Given the description of an element on the screen output the (x, y) to click on. 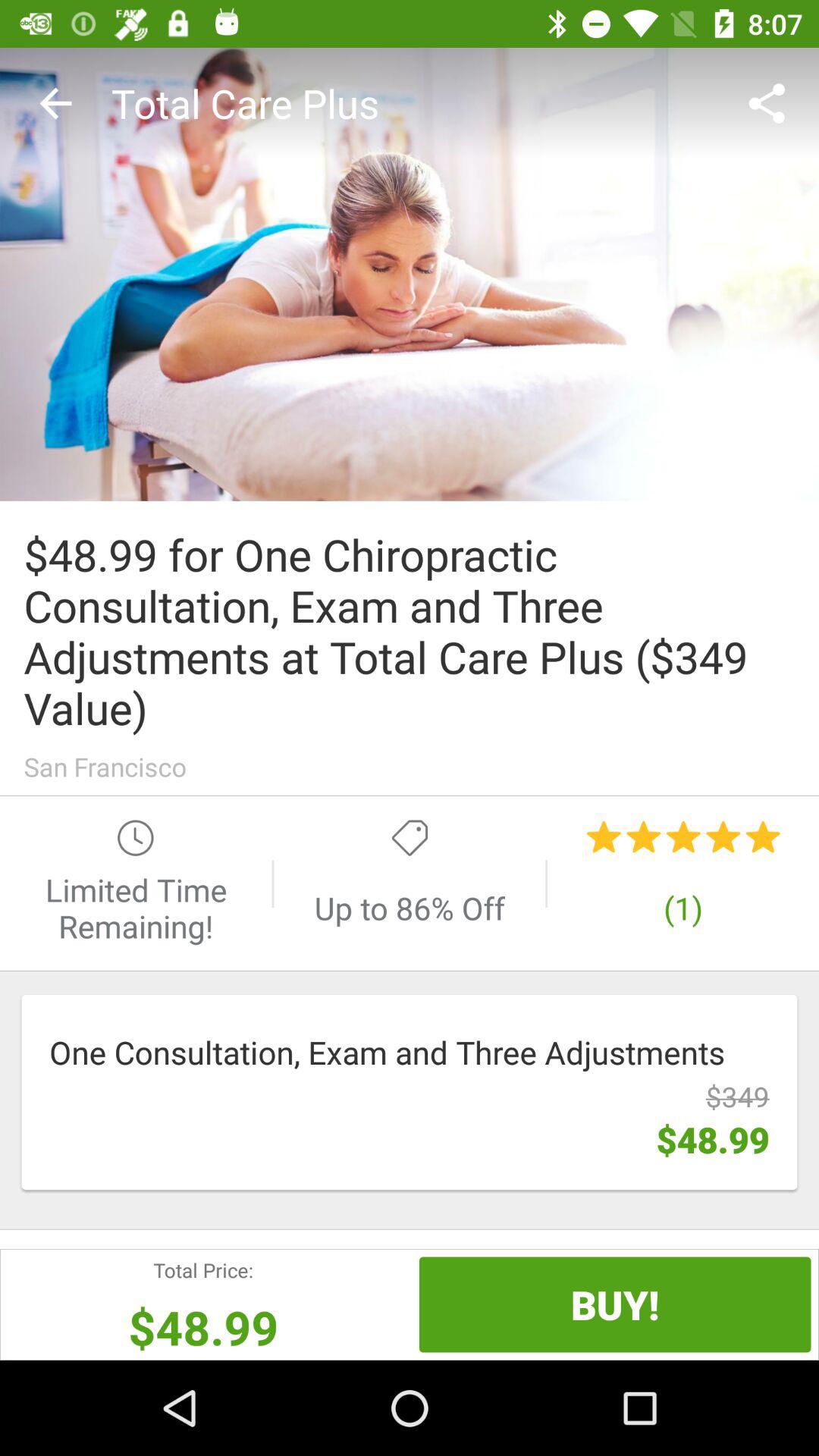
turn off the item next to the total care plus (771, 103)
